Given the description of an element on the screen output the (x, y) to click on. 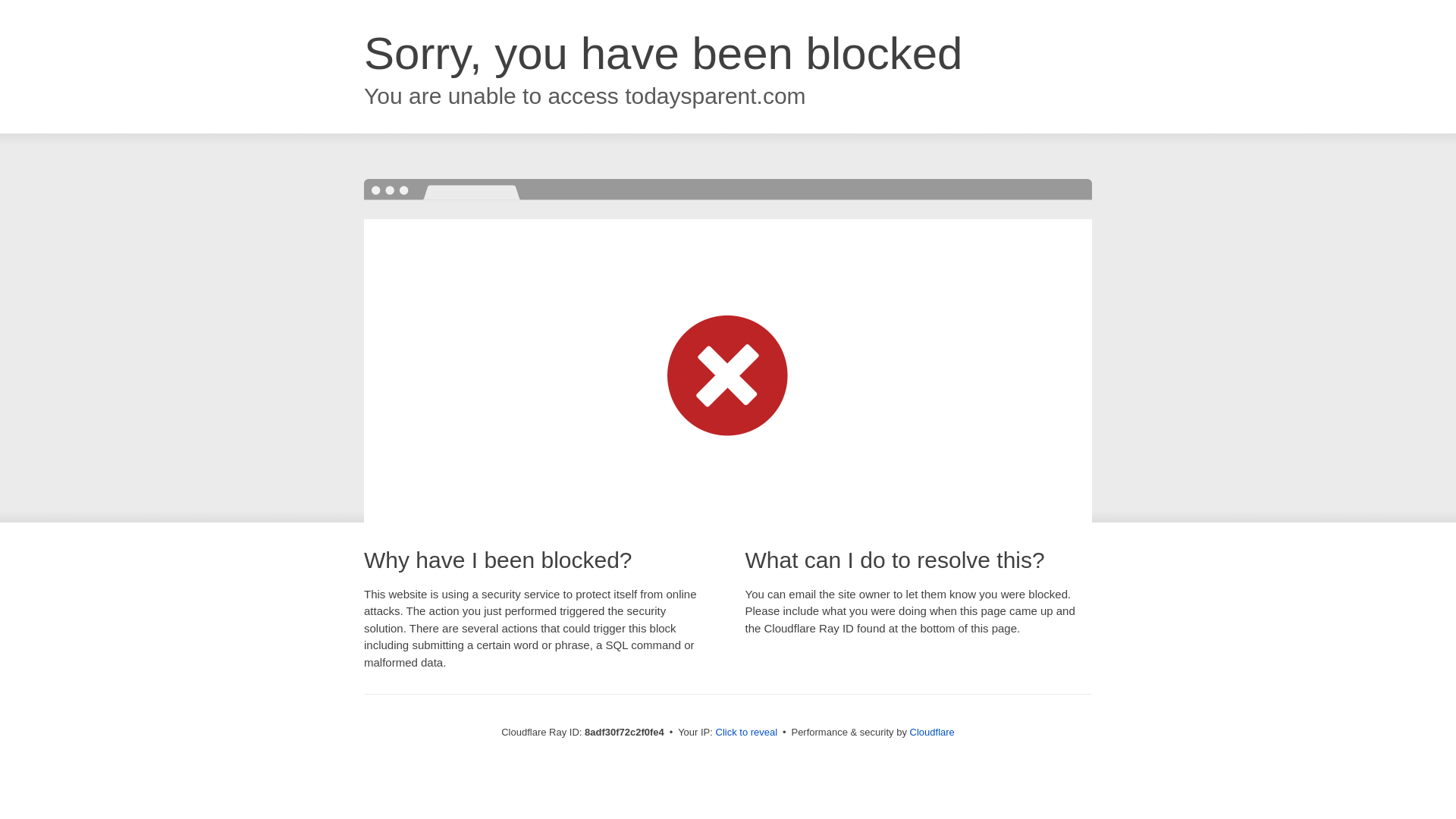
Click to reveal (746, 732)
Cloudflare (932, 731)
